Given the description of an element on the screen output the (x, y) to click on. 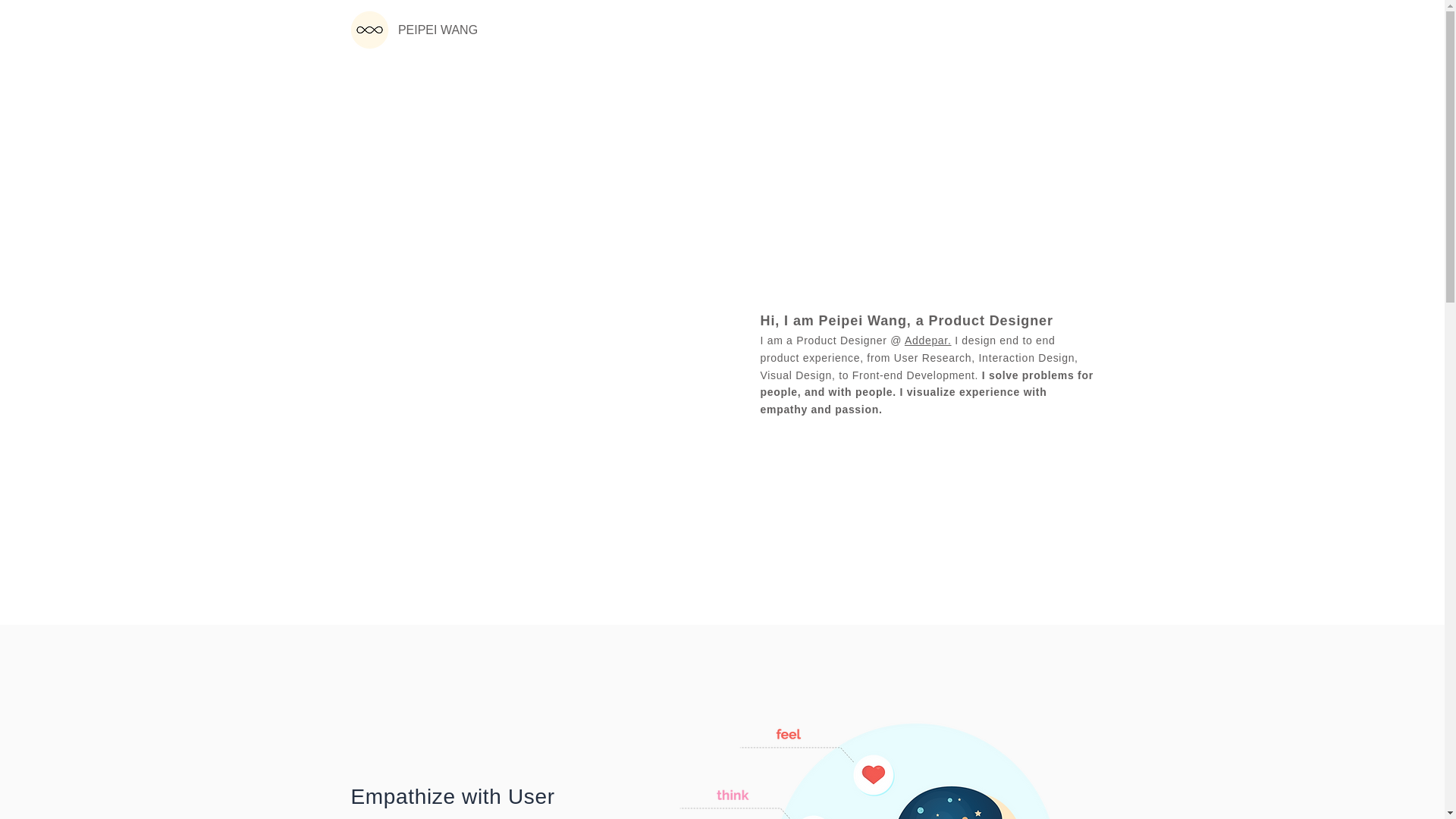
PEIPEI WANG (438, 30)
Addepar. (928, 340)
